Given the description of an element on the screen output the (x, y) to click on. 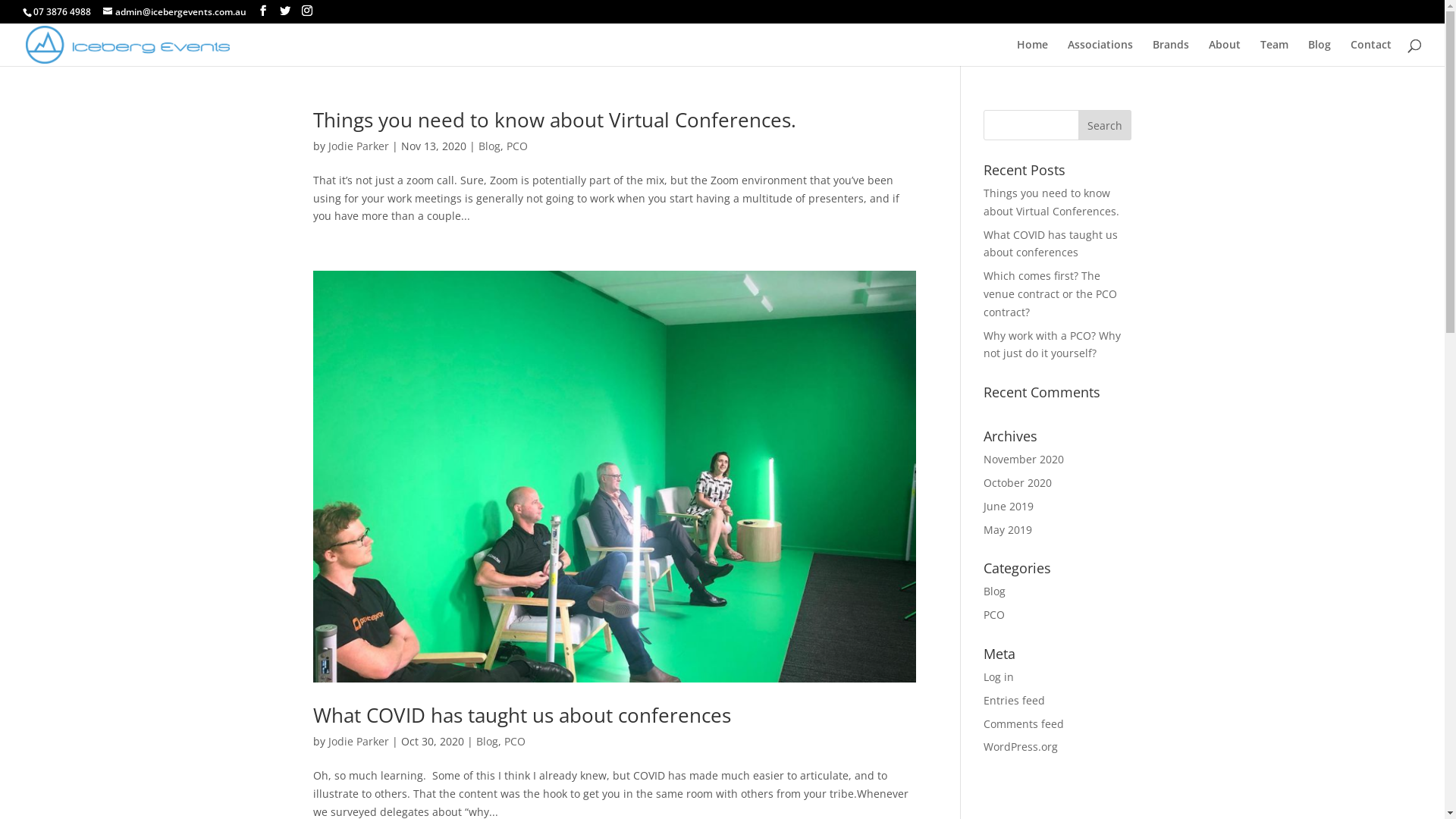
October 2020 Element type: text (1017, 482)
WordPress.org Element type: text (1020, 746)
May 2019 Element type: text (1007, 529)
Comments feed Element type: text (1023, 723)
Contact Element type: text (1370, 52)
November 2020 Element type: text (1023, 458)
PCO Element type: text (993, 614)
Things you need to know about Virtual Conferences. Element type: text (1051, 201)
admin@icebergevents.com.au Element type: text (174, 11)
What COVID has taught us about conferences Element type: text (1050, 243)
Brands Element type: text (1170, 52)
Jodie Parker Element type: text (357, 741)
Blog Element type: text (488, 145)
PCO Element type: text (513, 741)
Associations Element type: text (1099, 52)
Home Element type: text (1032, 52)
Why work with a PCO? Why not just do it yourself? Element type: text (1051, 344)
Blog Element type: text (994, 590)
Which comes first? The venue contract or the PCO contract? Element type: text (1050, 293)
What COVID has taught us about conferences Element type: text (521, 714)
Team Element type: text (1274, 52)
Search Element type: text (1104, 124)
Entries feed Element type: text (1013, 700)
Log in Element type: text (998, 676)
PCO Element type: text (516, 145)
Blog Element type: text (487, 741)
About Element type: text (1224, 52)
Blog Element type: text (1319, 52)
Things you need to know about Virtual Conferences. Element type: text (553, 119)
Jodie Parker Element type: text (357, 145)
June 2019 Element type: text (1008, 505)
